Given the description of an element on the screen output the (x, y) to click on. 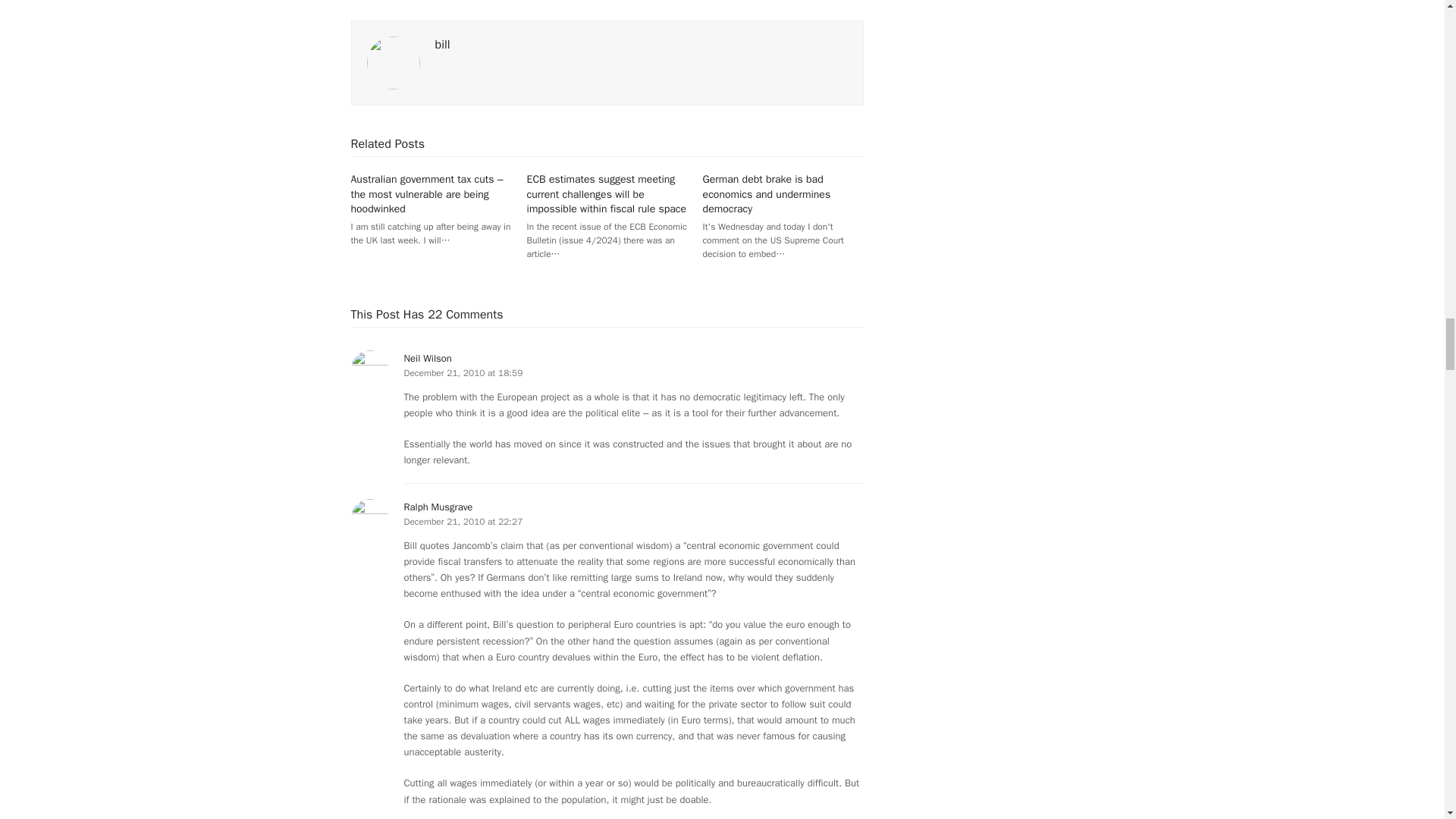
German debt brake is bad economics and undermines democracy (767, 193)
Visit Author Page (393, 62)
bill (442, 44)
Visit Author Page (442, 44)
Neil Wilson (427, 358)
